Given the description of an element on the screen output the (x, y) to click on. 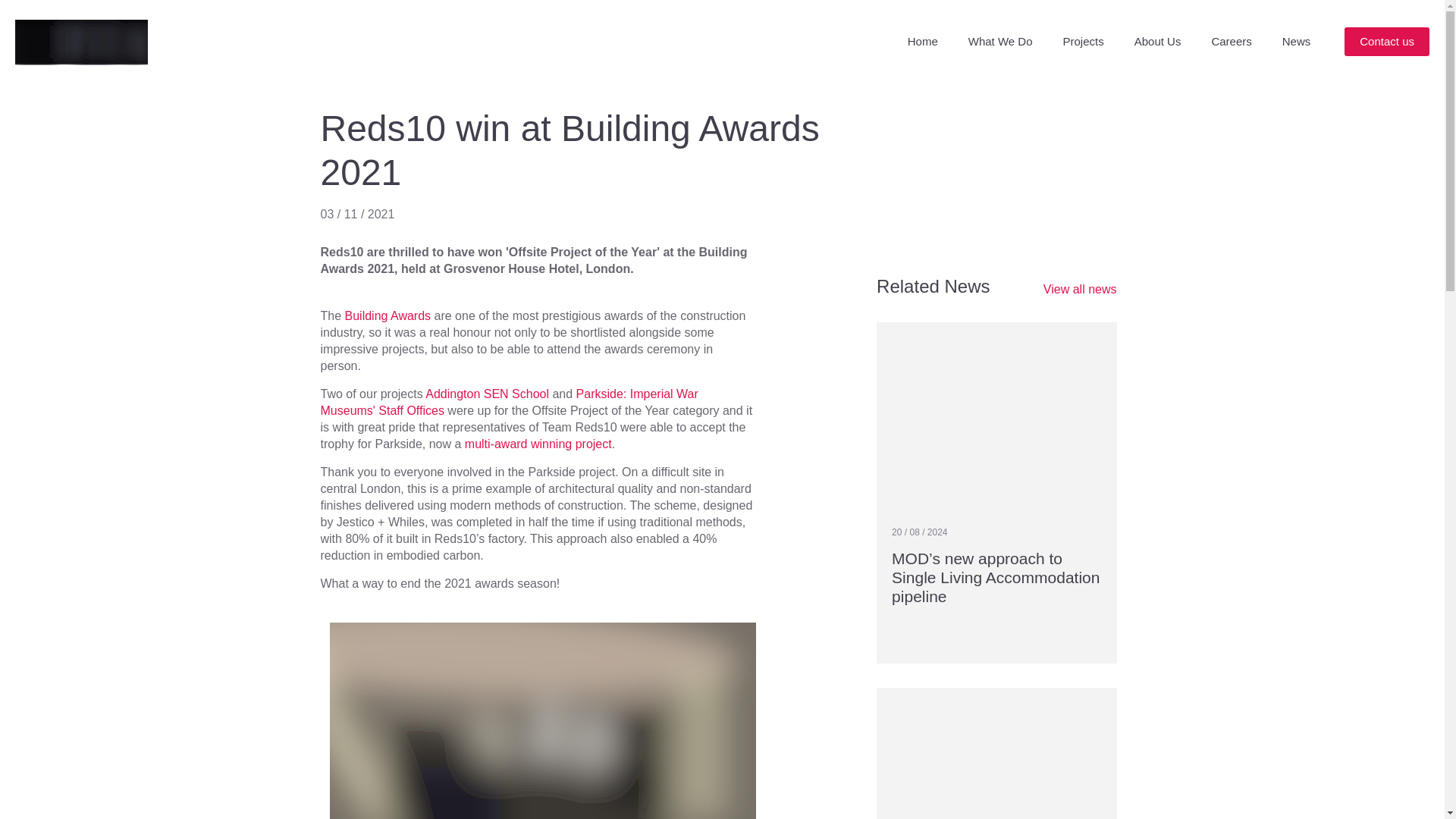
View all news (1079, 289)
Addington SEN School (486, 393)
About Us (1157, 41)
Contact us (1386, 41)
What We Do (1000, 41)
Building Awards (387, 315)
Parkside: Imperial War Museums' Staff Offices (508, 401)
multi-award winning project (537, 443)
View all news (1079, 289)
Reds10 (81, 41)
